Given the description of an element on the screen output the (x, y) to click on. 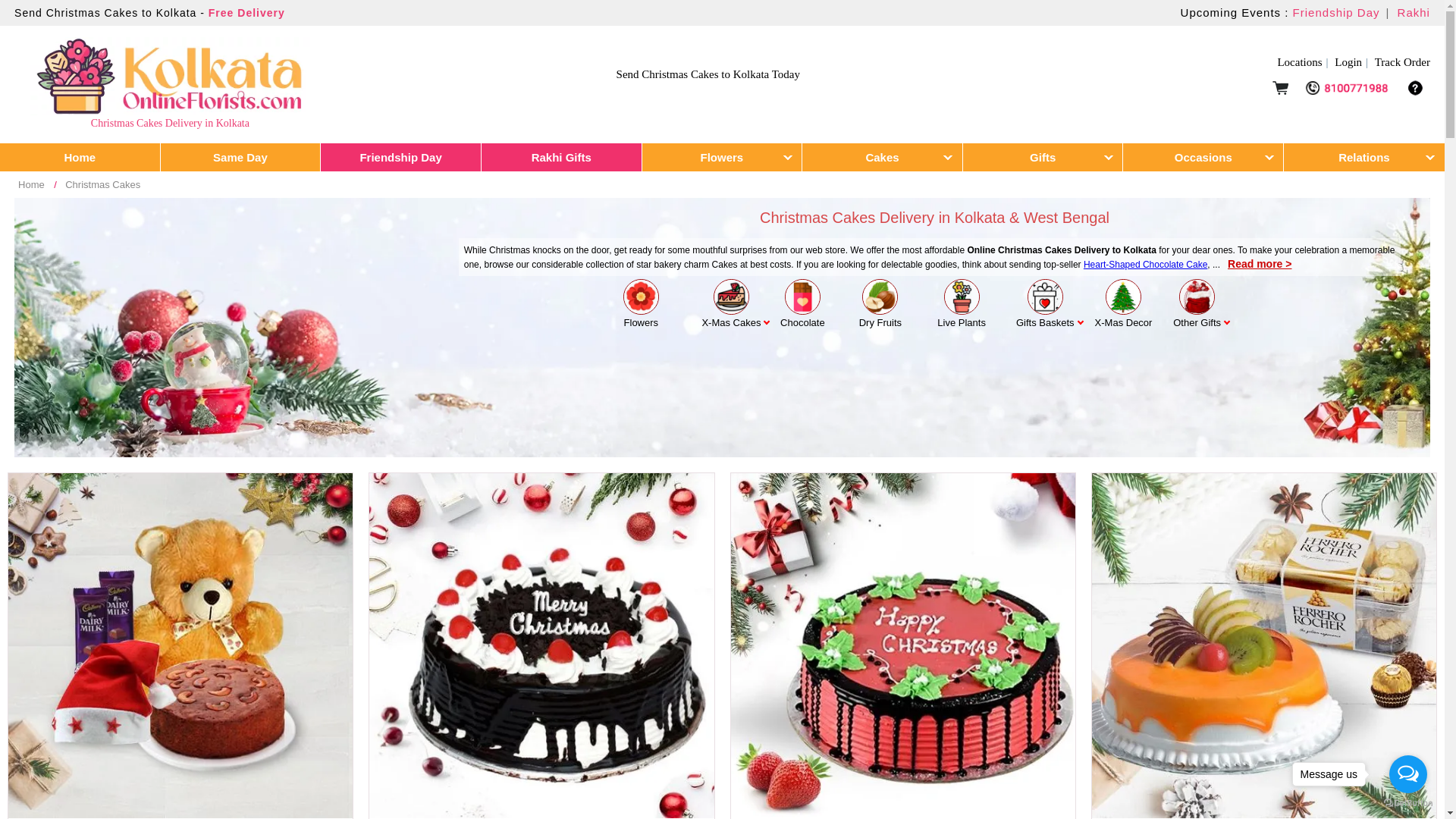
Shopping Cart (1280, 91)
Same Day (240, 157)
Same Day Delivery Rakhi Gifts to Kolkata (561, 157)
Login (1353, 61)
Helpdesk (1414, 91)
Same Day Delivery Gifts (240, 157)
Track Order (1401, 61)
Locations (1304, 61)
Home (80, 157)
Login (1353, 61)
Home (80, 157)
Track Order (1401, 61)
Flowers (722, 157)
Delivery Locations (1304, 61)
Send Rakhi to Kolkata Same Day Delivery (1413, 11)
